Given the description of an element on the screen output the (x, y) to click on. 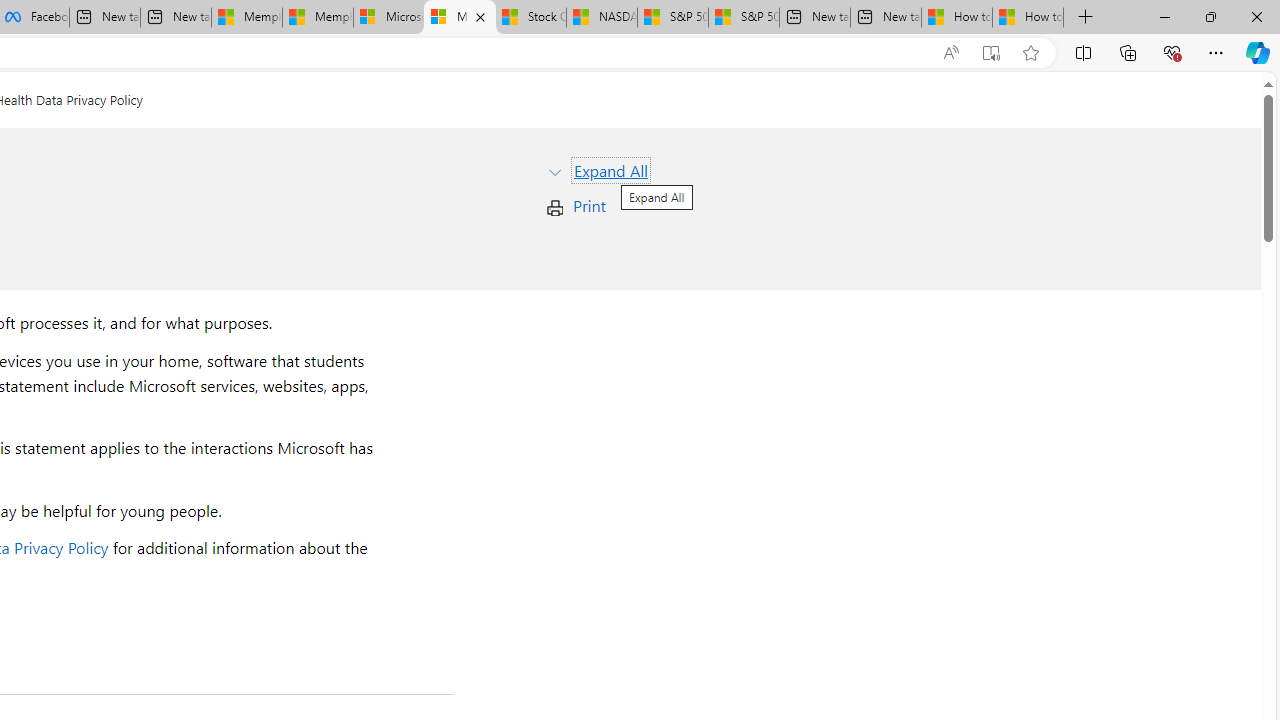
Expand All (610, 170)
Print (589, 205)
